Given the description of an element on the screen output the (x, y) to click on. 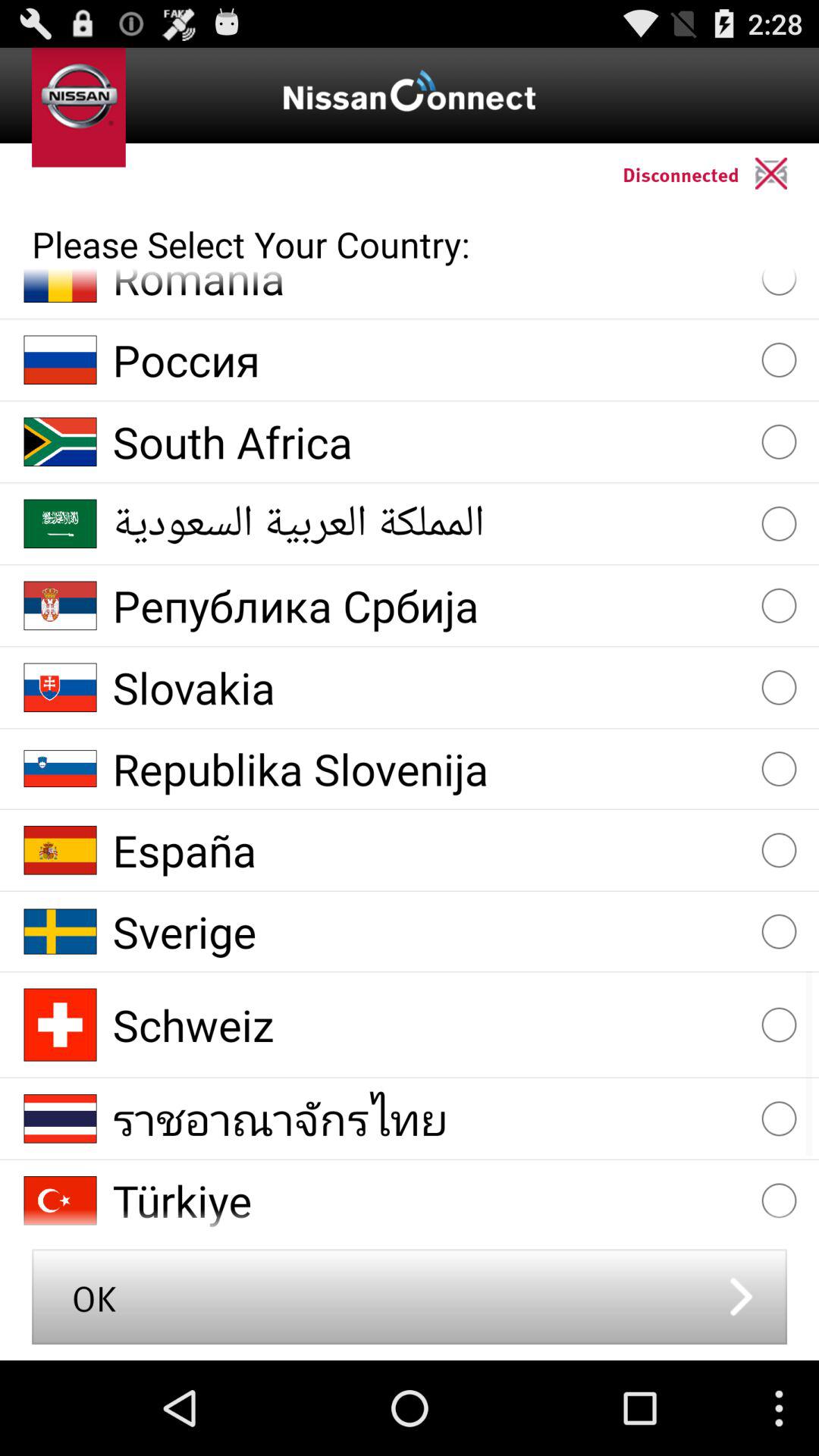
connect to the car (787, 173)
